Given the description of an element on the screen output the (x, y) to click on. 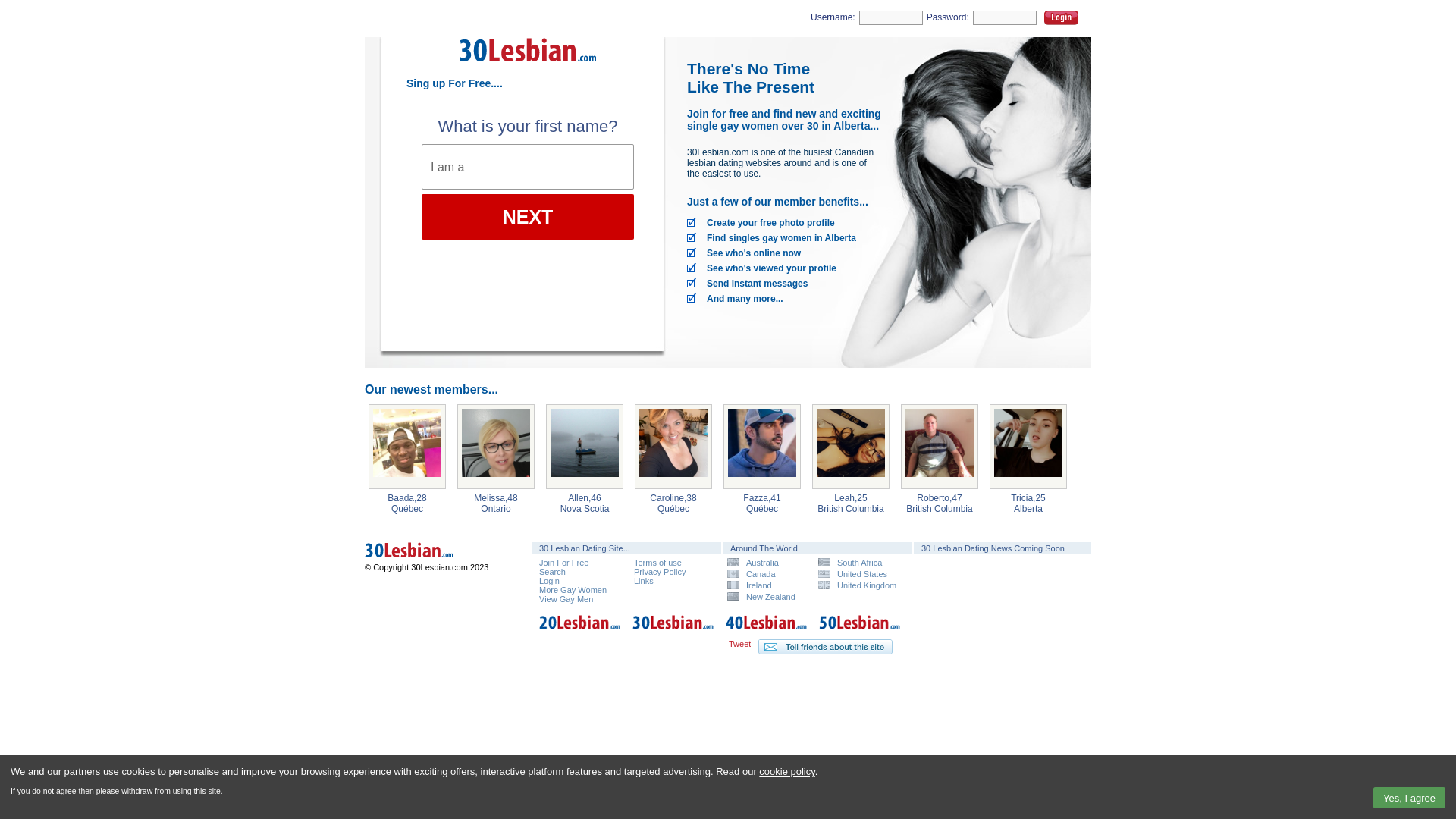
Ireland Element type: text (766, 584)
South Africa Element type: text (857, 562)
New Zealand Element type: text (766, 596)
cookie policy Element type: text (786, 771)
Privacy Policy Element type: text (659, 571)
Join For Free Element type: text (563, 562)
Search Element type: text (552, 571)
Tricia, 25 from Calgary, Alberta Element type: hover (1027, 446)
United Kingdom Element type: text (857, 584)
Roberto, 47 from Port Coquitlam, British Columbia Element type: hover (939, 446)
30 Lesbian Dating Element type: hover (527, 66)
Links Element type: text (643, 580)
More Gay Women Element type: text (572, 589)
40 Lesbian Dating Element type: hover (766, 630)
Tweet Element type: text (739, 643)
Leah, 25 from Kamloops, British Columbia Element type: hover (850, 446)
Login Element type: text (1061, 17)
Melissa, 48 from Hamilton, Ontario Element type: hover (495, 446)
30 Lesbian Dating Canada Element type: hover (432, 552)
United States Element type: text (857, 573)
Allen, 46 from Glace Bay, Nova Scotia Element type: hover (584, 446)
Yes, I agree Element type: text (1409, 797)
30 Lesbian Dating Canada Element type: hover (432, 559)
20 Lesbian Dating Element type: hover (580, 630)
50 Lesbian Dating Element type: hover (859, 630)
30 Lesbian Dating Element type: hover (673, 630)
Login Element type: text (549, 580)
NEXT Element type: text (527, 216)
Terms of use Element type: text (657, 562)
Tell your friends about 30 Lesbian Dating Element type: text (825, 646)
Australia Element type: text (766, 562)
View Gay Men Element type: text (566, 598)
Canada Element type: text (766, 573)
